Given the description of an element on the screen output the (x, y) to click on. 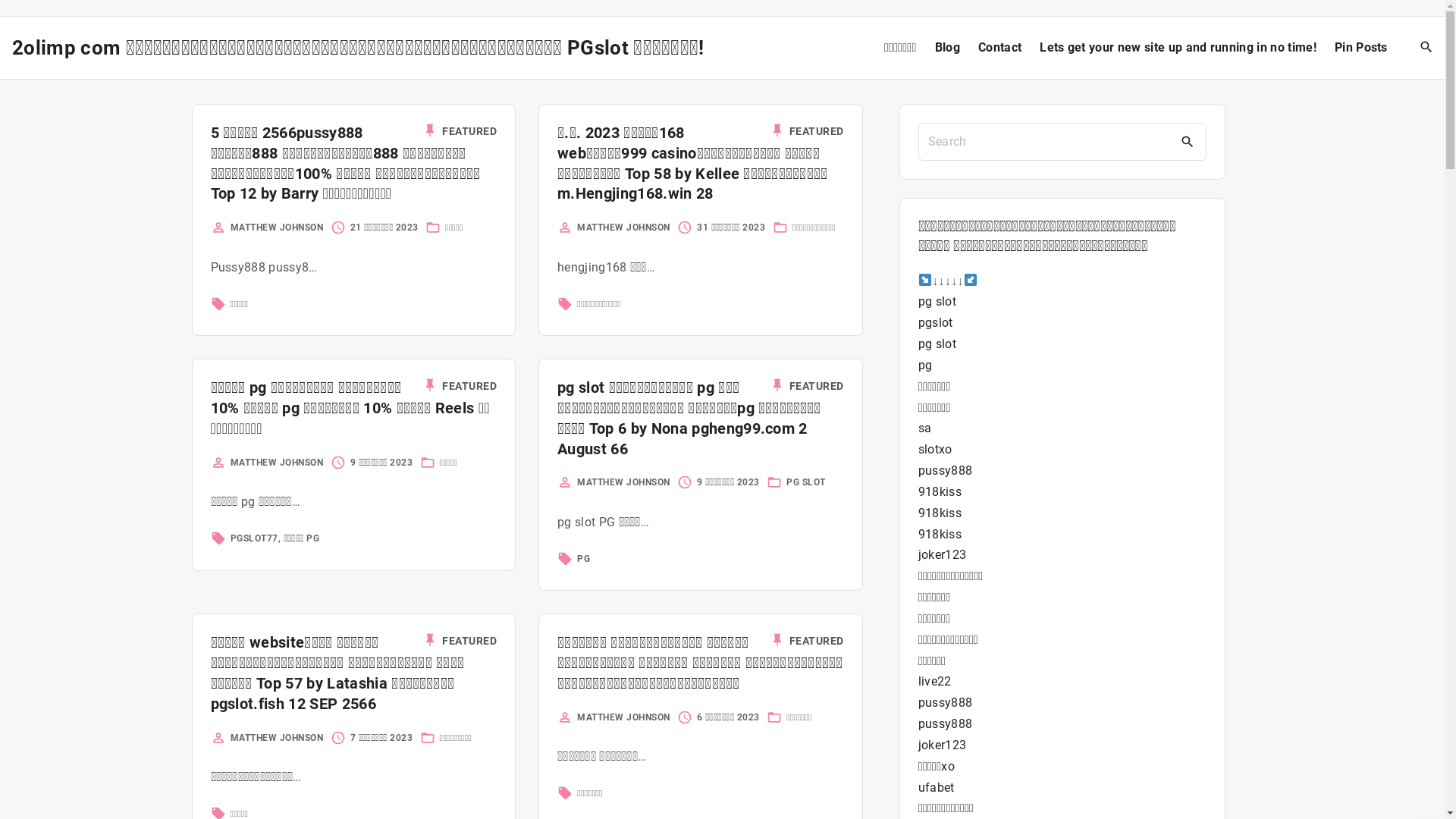
Contact Element type: text (999, 47)
pgslot Element type: text (935, 322)
pg slot Element type: text (937, 301)
pussy888 Element type: text (945, 470)
pg Element type: text (925, 364)
slotxo Element type: text (935, 449)
MATTHEW JOHNSON Element type: text (276, 737)
PG SLOT Element type: text (805, 481)
pussy888 Element type: text (945, 723)
live22 Element type: text (934, 681)
918kiss Element type: text (939, 491)
joker123 Element type: text (942, 744)
Blog Element type: text (947, 47)
ufabet Element type: text (936, 786)
pussy888 Element type: text (945, 702)
MATTHEW JOHNSON Element type: text (623, 481)
Search Element type: text (1187, 141)
joker123 Element type: text (942, 554)
MATTHEW JOHNSON Element type: text (623, 227)
MATTHEW JOHNSON Element type: text (623, 717)
PG Element type: text (583, 558)
Lets get your new site up and running in no time! Element type: text (1177, 47)
PGSLOT77 Element type: text (254, 538)
Pin Posts Element type: text (1360, 47)
pg slot Element type: text (937, 343)
MATTHEW JOHNSON Element type: text (276, 227)
918kiss Element type: text (939, 512)
sa Element type: text (924, 427)
MATTHEW JOHNSON Element type: text (276, 462)
918kiss Element type: text (939, 534)
